Given the description of an element on the screen output the (x, y) to click on. 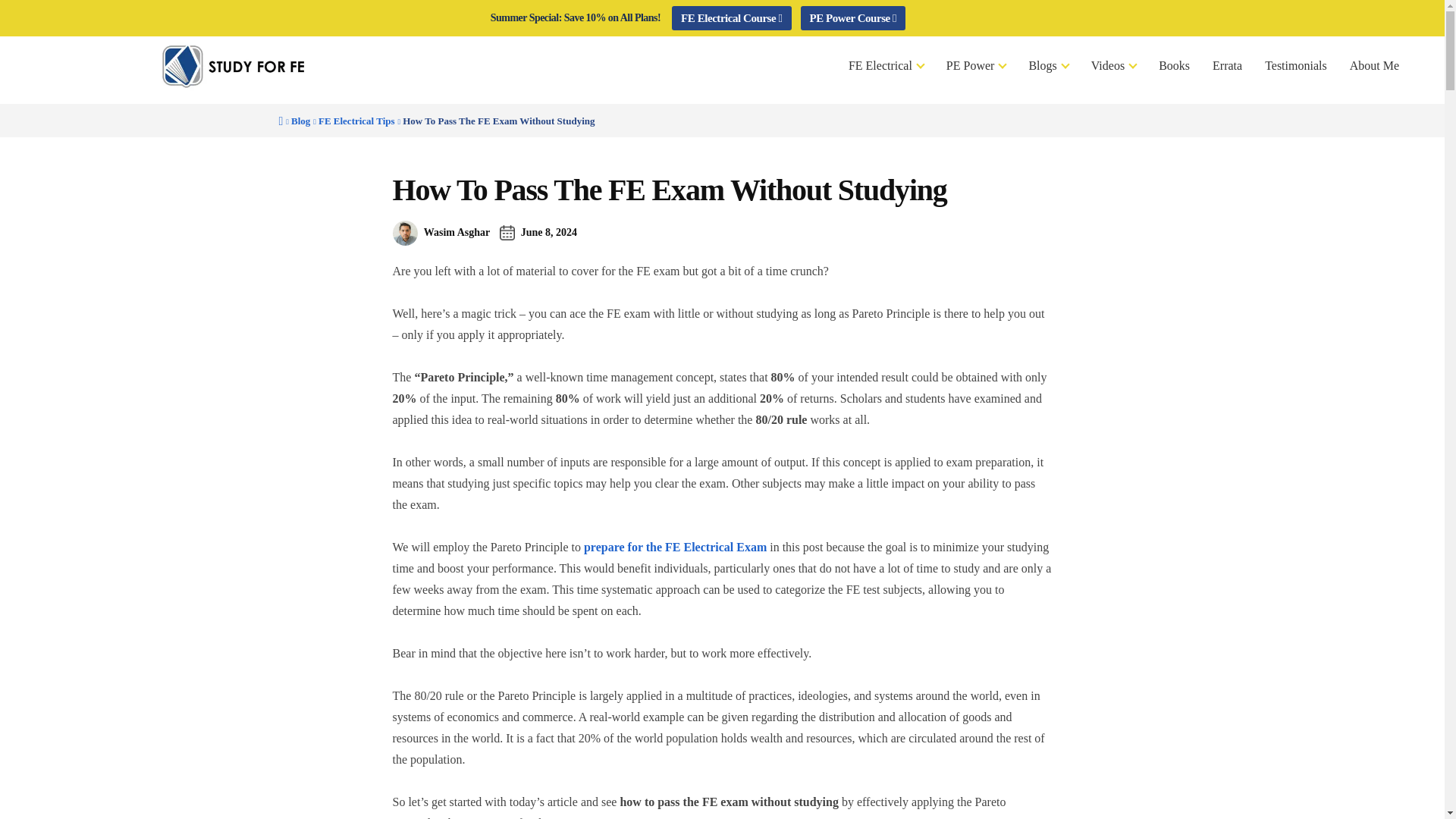
FE Electrical (885, 65)
Blogs (1047, 65)
Videos (1113, 65)
PE Power Course (852, 17)
PE Power (975, 65)
FE Electrical Course (730, 17)
FE Electrical (885, 65)
PE Power (975, 65)
